Given the description of an element on the screen output the (x, y) to click on. 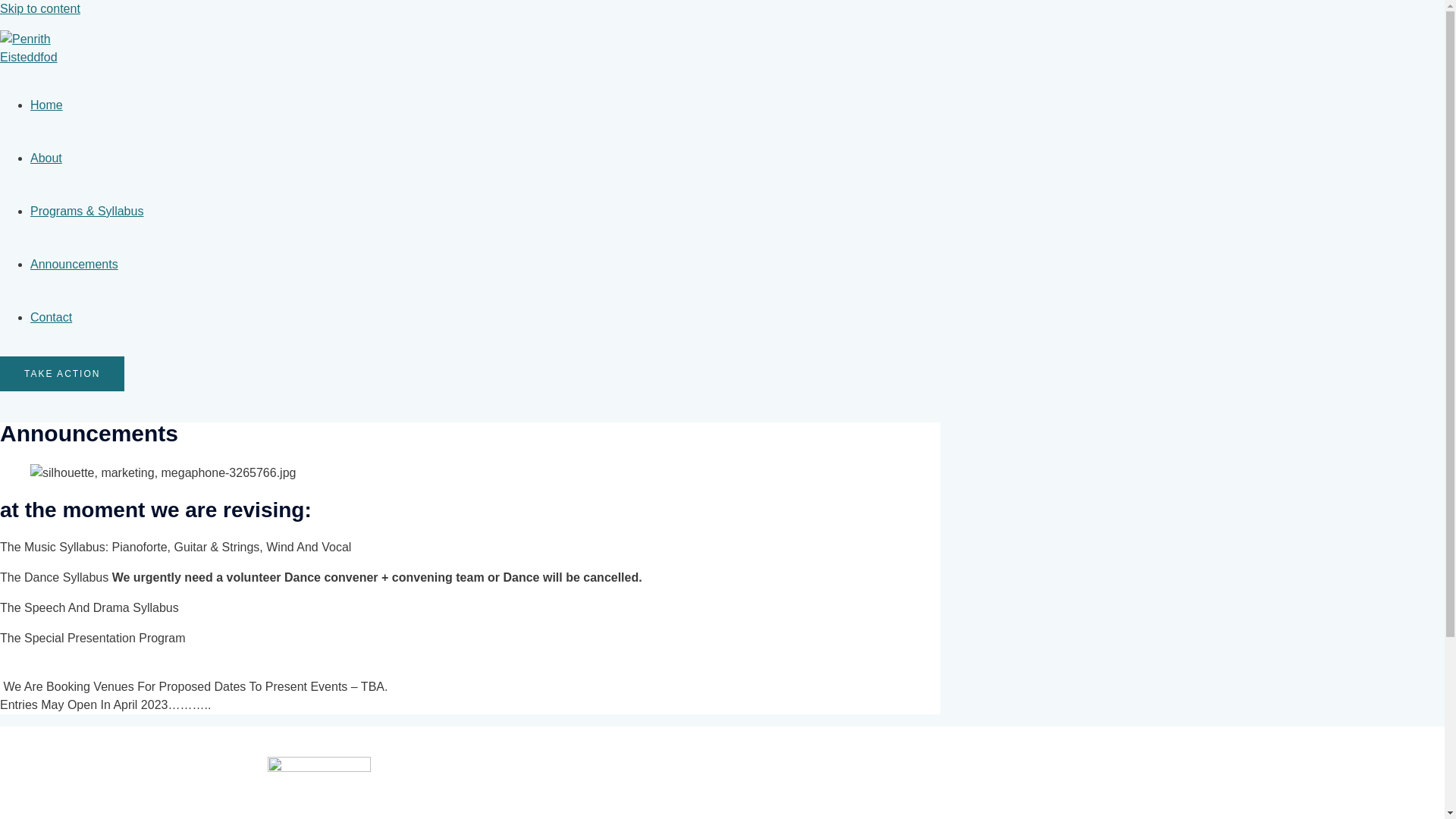
Announcements (73, 264)
Contact (50, 317)
TAKE ACTION (61, 373)
Skip to content (40, 8)
About (46, 157)
Skip to content (40, 8)
Home (46, 104)
